Given the description of an element on the screen output the (x, y) to click on. 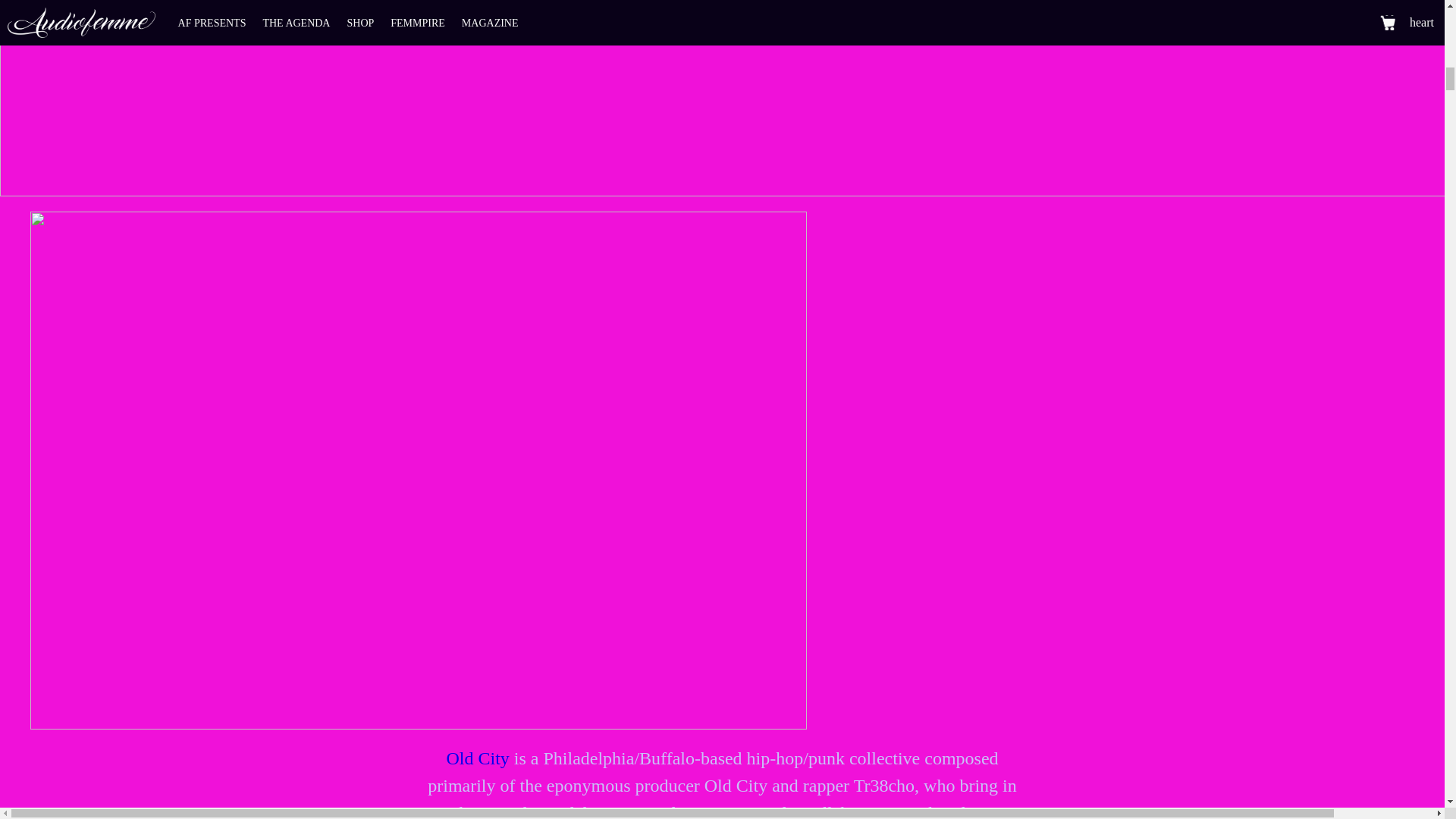
Old City (476, 758)
